Given the description of an element on the screen output the (x, y) to click on. 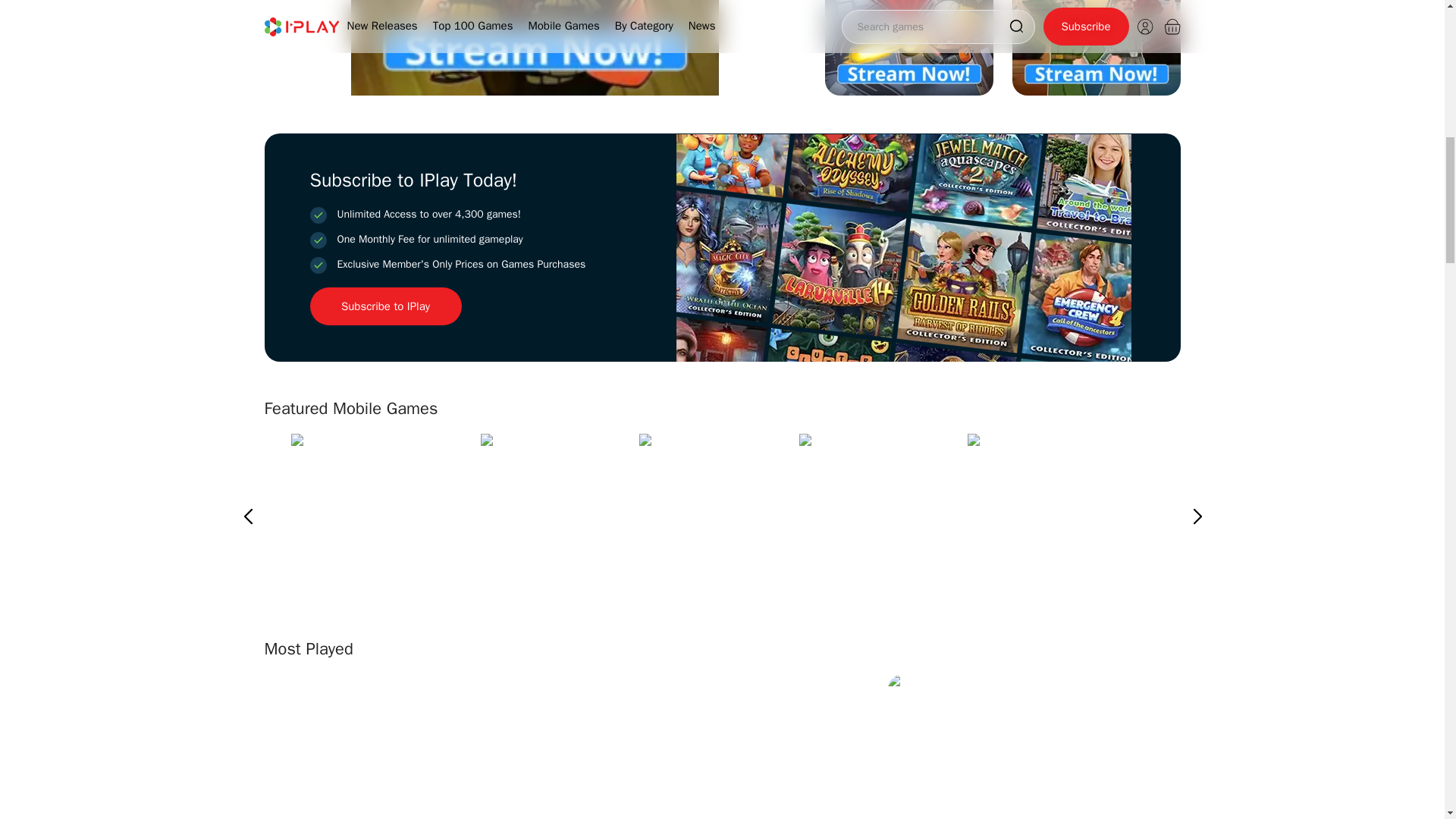
Subscribe to IPlay (384, 306)
